Given the description of an element on the screen output the (x, y) to click on. 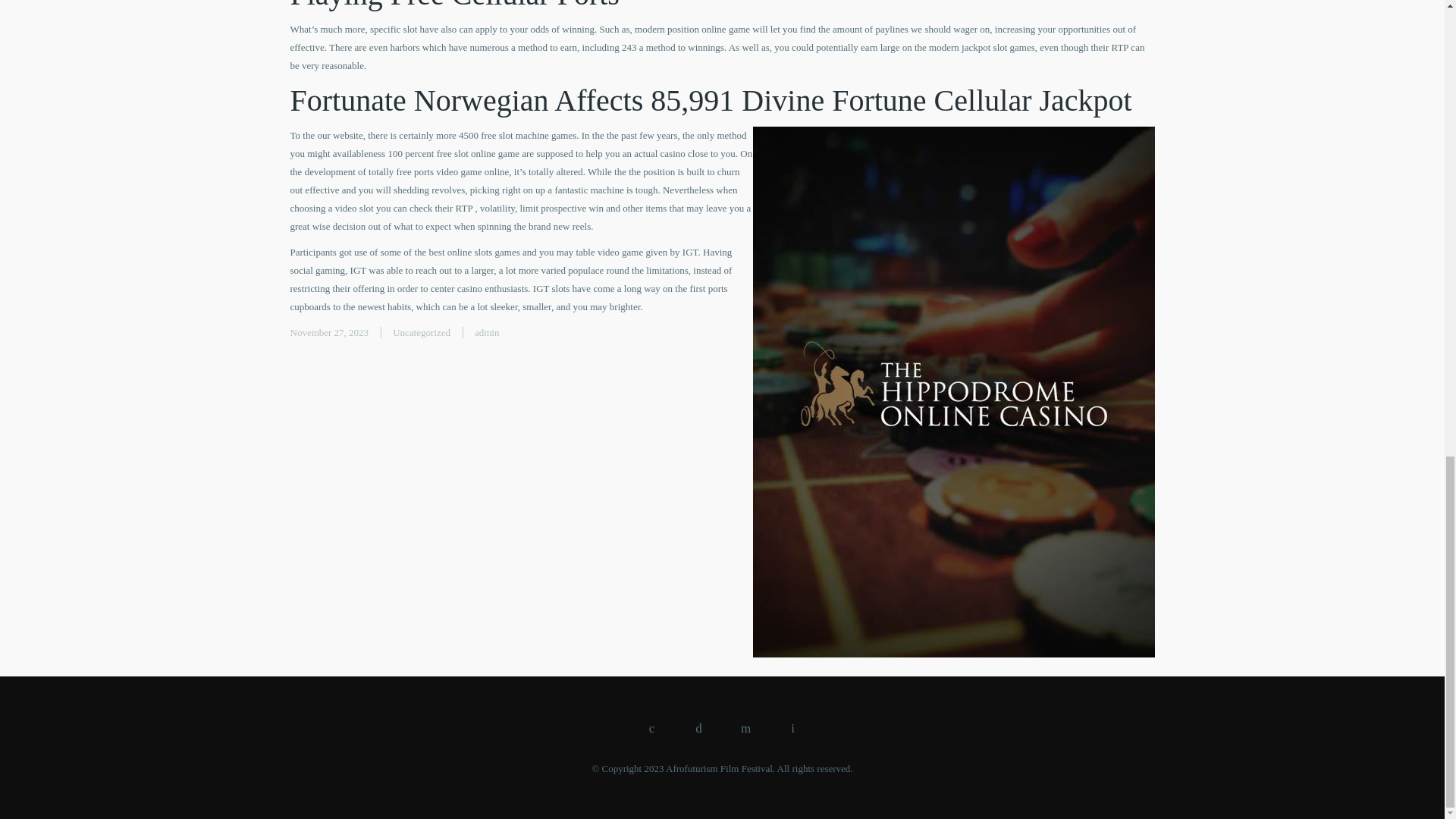
Uncategorized (421, 332)
admin (486, 332)
November 27, 2023 (328, 332)
